Given the description of an element on the screen output the (x, y) to click on. 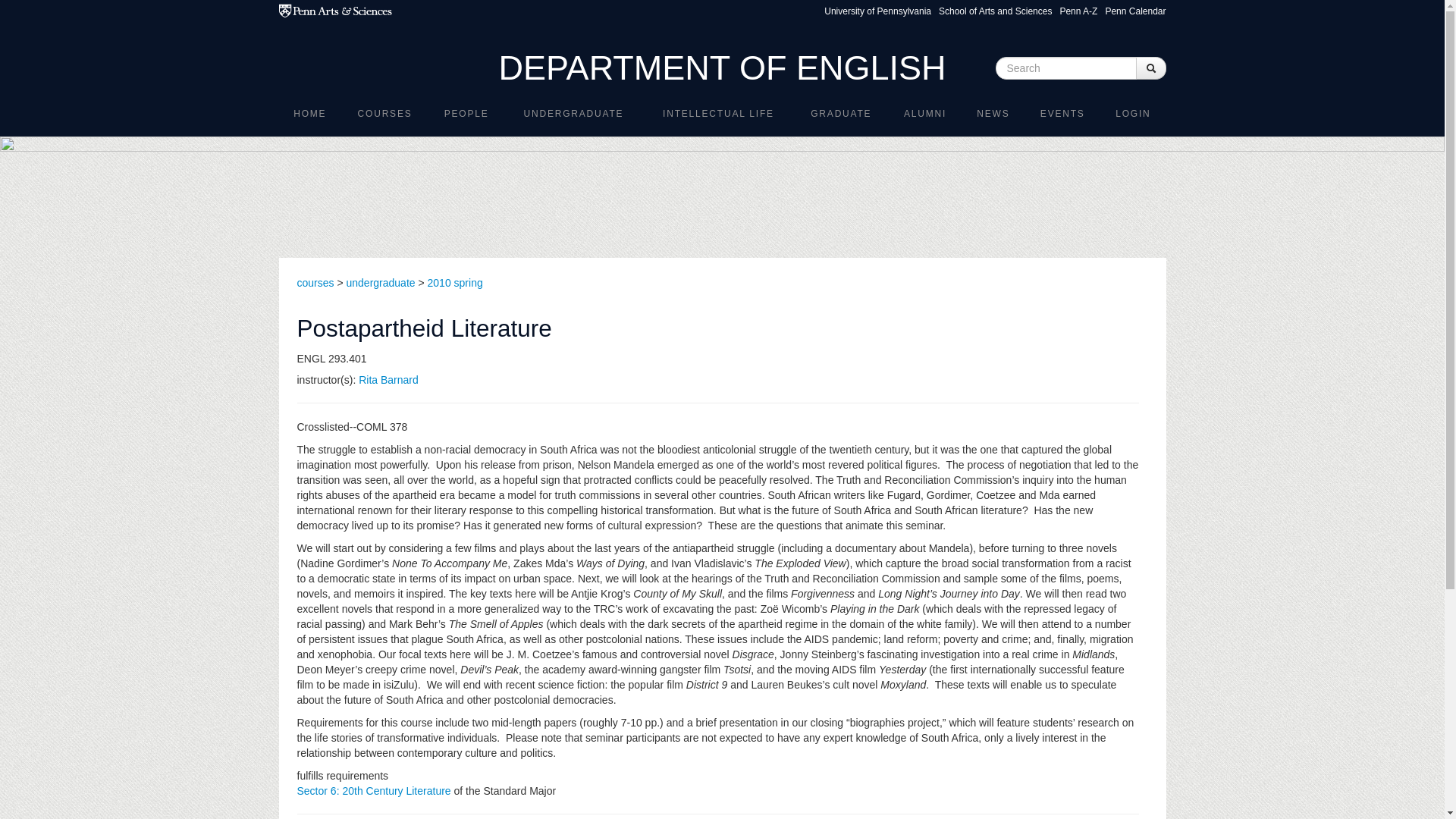
University of Pennsylvania (877, 10)
PEOPLE (465, 113)
COURSES (384, 113)
UNDERGRADUATE (573, 113)
LOGIN (1133, 113)
Penn Calendar (1135, 10)
School of Arts and Sciences (995, 10)
Enter the terms you wish to search for. (1064, 67)
2010 spring (455, 282)
